Given the description of an element on the screen output the (x, y) to click on. 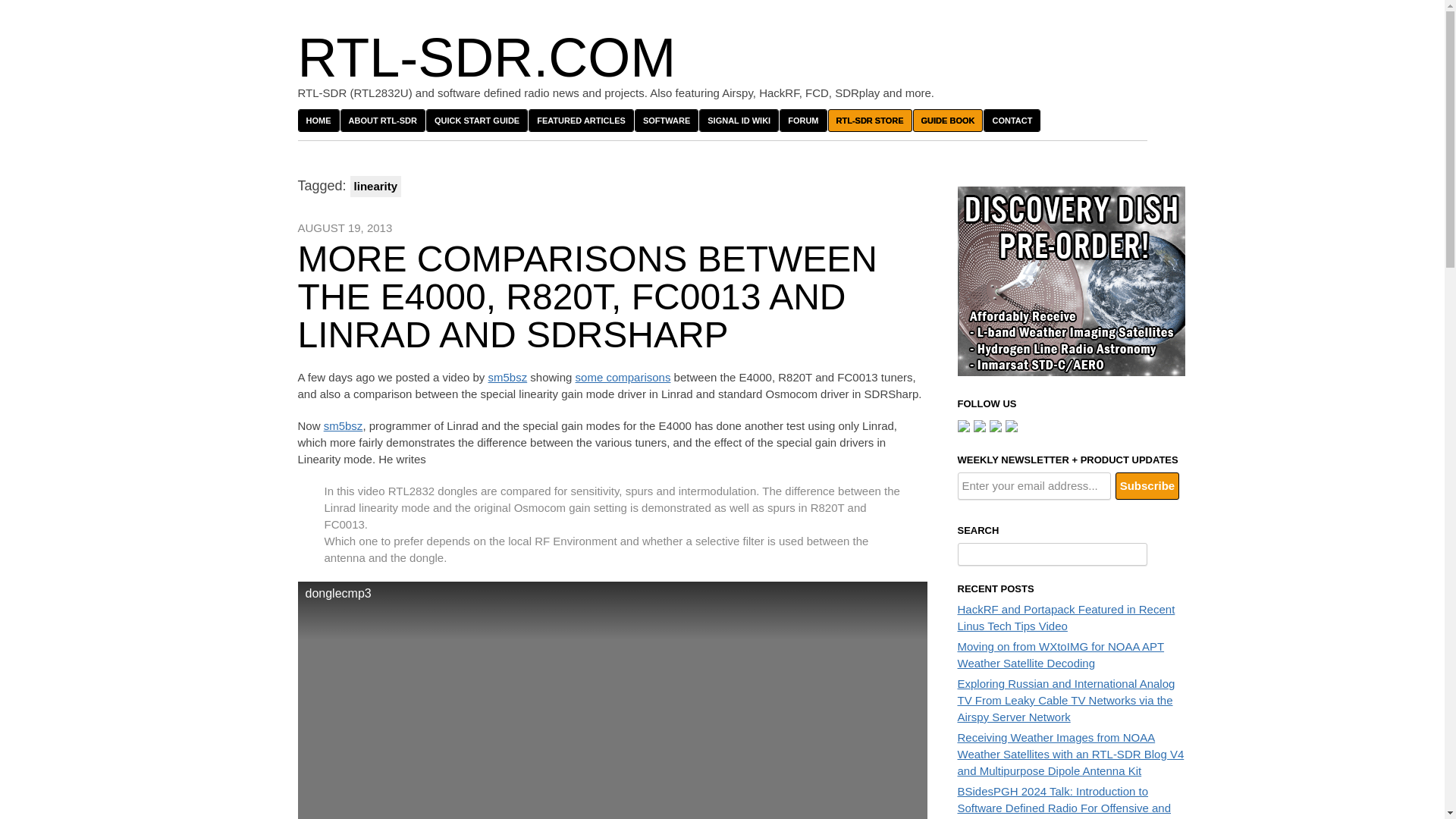
RTL-SDR.COM (486, 57)
Subscribe (1147, 485)
QUICK START GUIDE (476, 119)
ABOUT RTL-SDR (382, 119)
Enter your email address... (1032, 485)
rtl-sdr.com (486, 57)
HOME (318, 119)
FEATURED ARTICLES (580, 119)
